Given the description of an element on the screen output the (x, y) to click on. 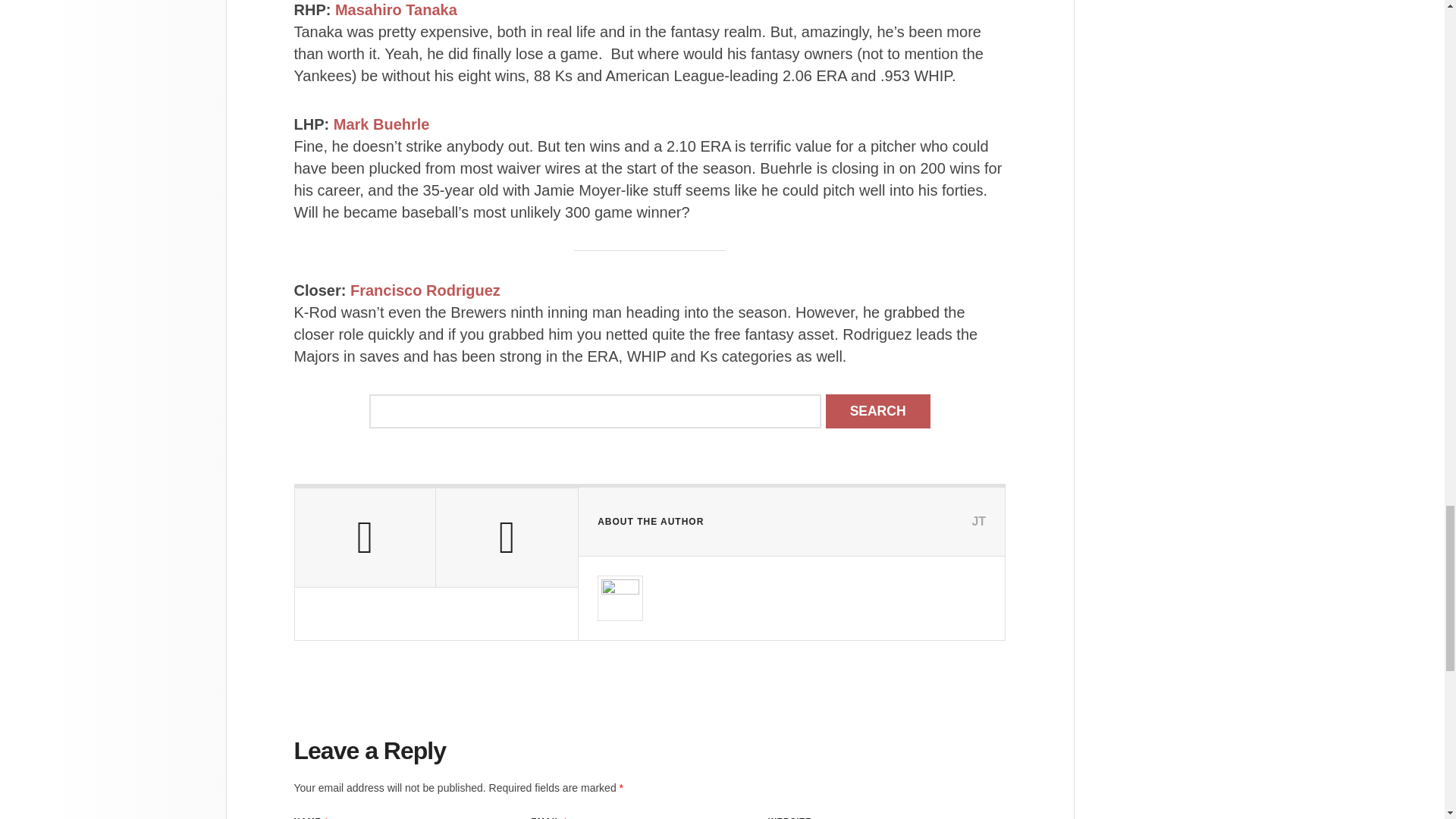
Search (877, 410)
